Given the description of an element on the screen output the (x, y) to click on. 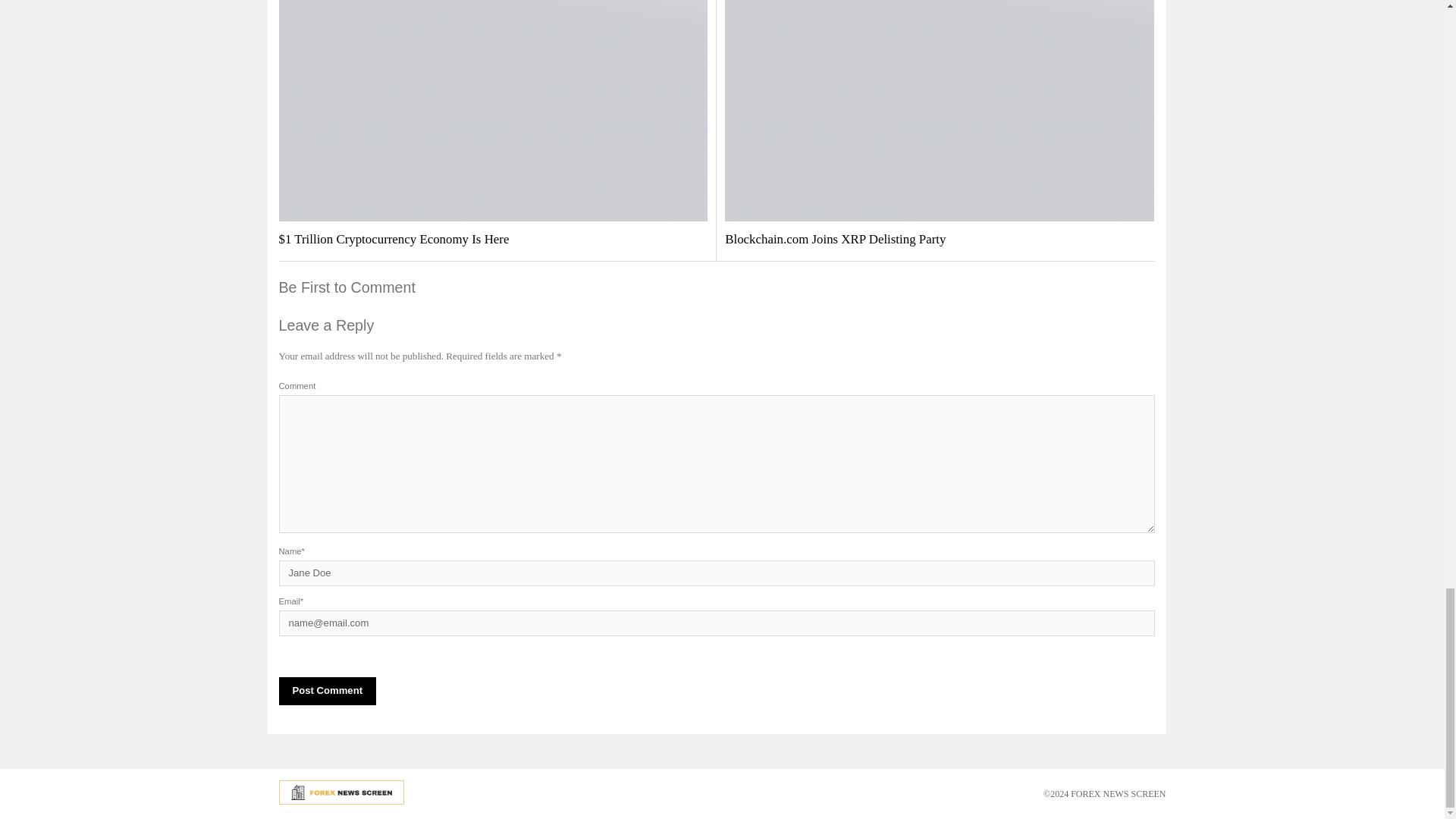
Post Comment (328, 691)
